Given the description of an element on the screen output the (x, y) to click on. 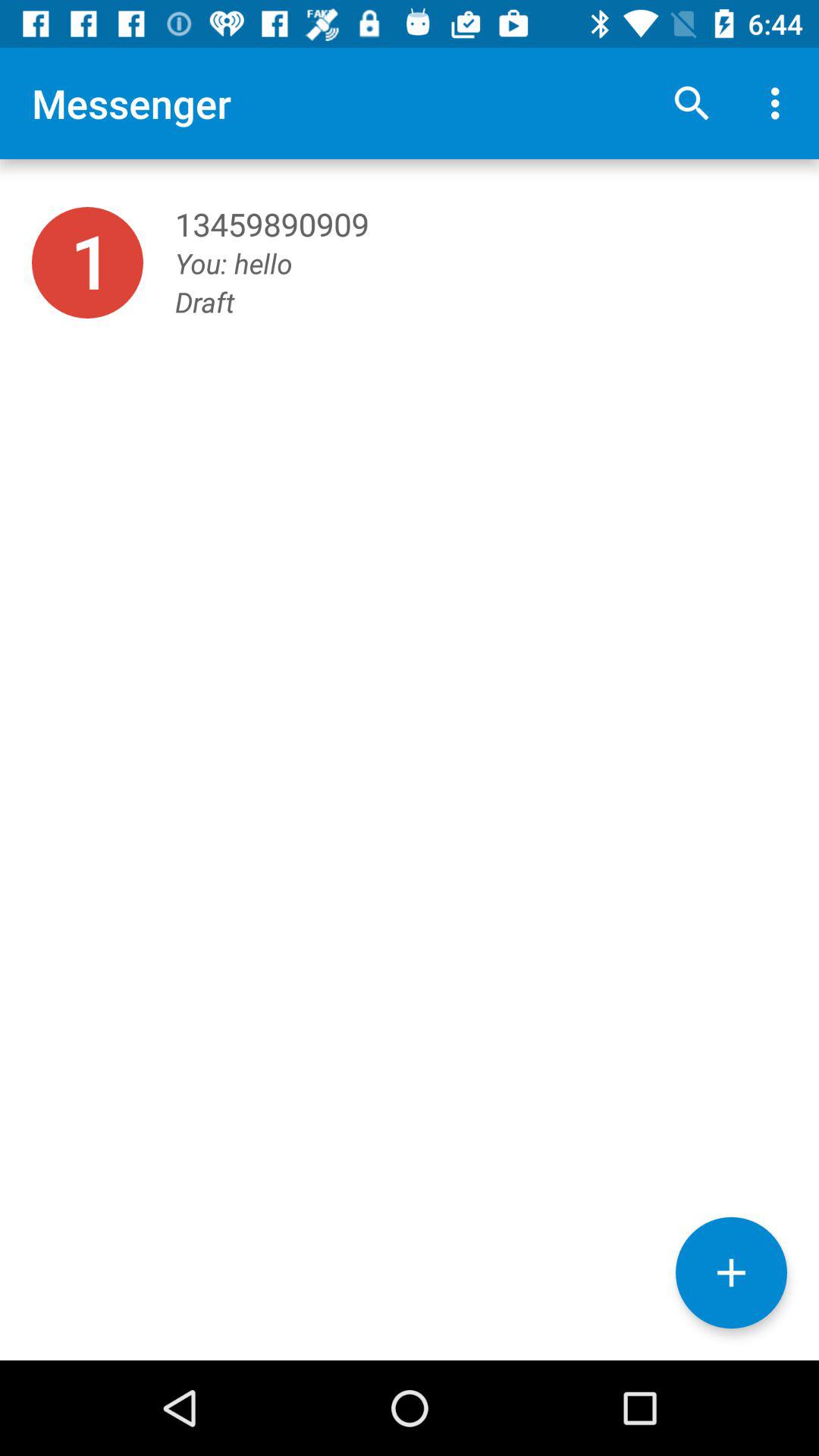
press icon above you: hello item (779, 103)
